Given the description of an element on the screen output the (x, y) to click on. 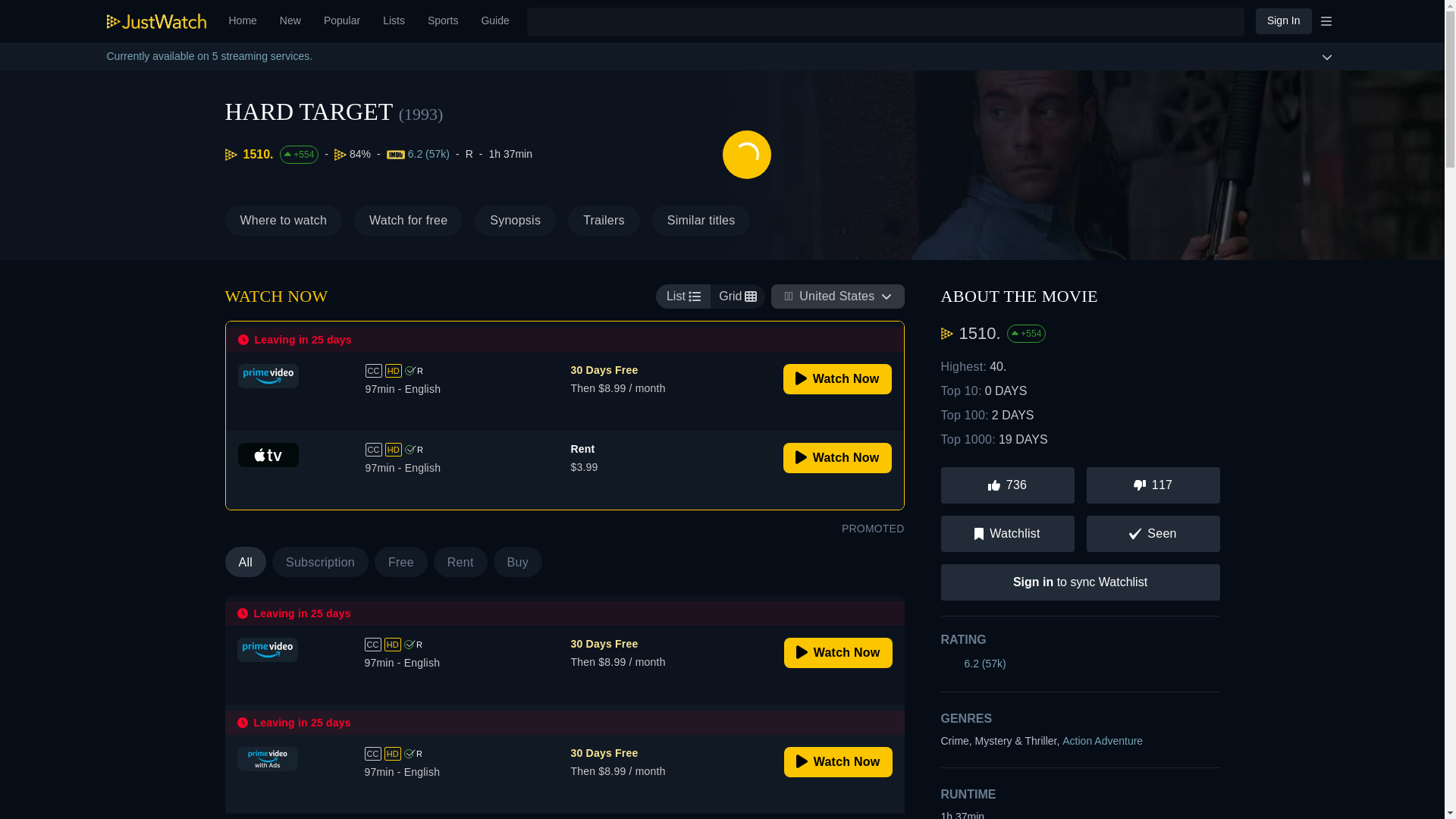
Home (241, 21)
All (245, 562)
Buy (517, 562)
Free (401, 562)
Popular (342, 21)
Sports (442, 21)
Watch Now (837, 458)
Where to watch (283, 220)
Guide (493, 21)
Lists (393, 21)
Watch Now (837, 378)
New (290, 21)
